Given the description of an element on the screen output the (x, y) to click on. 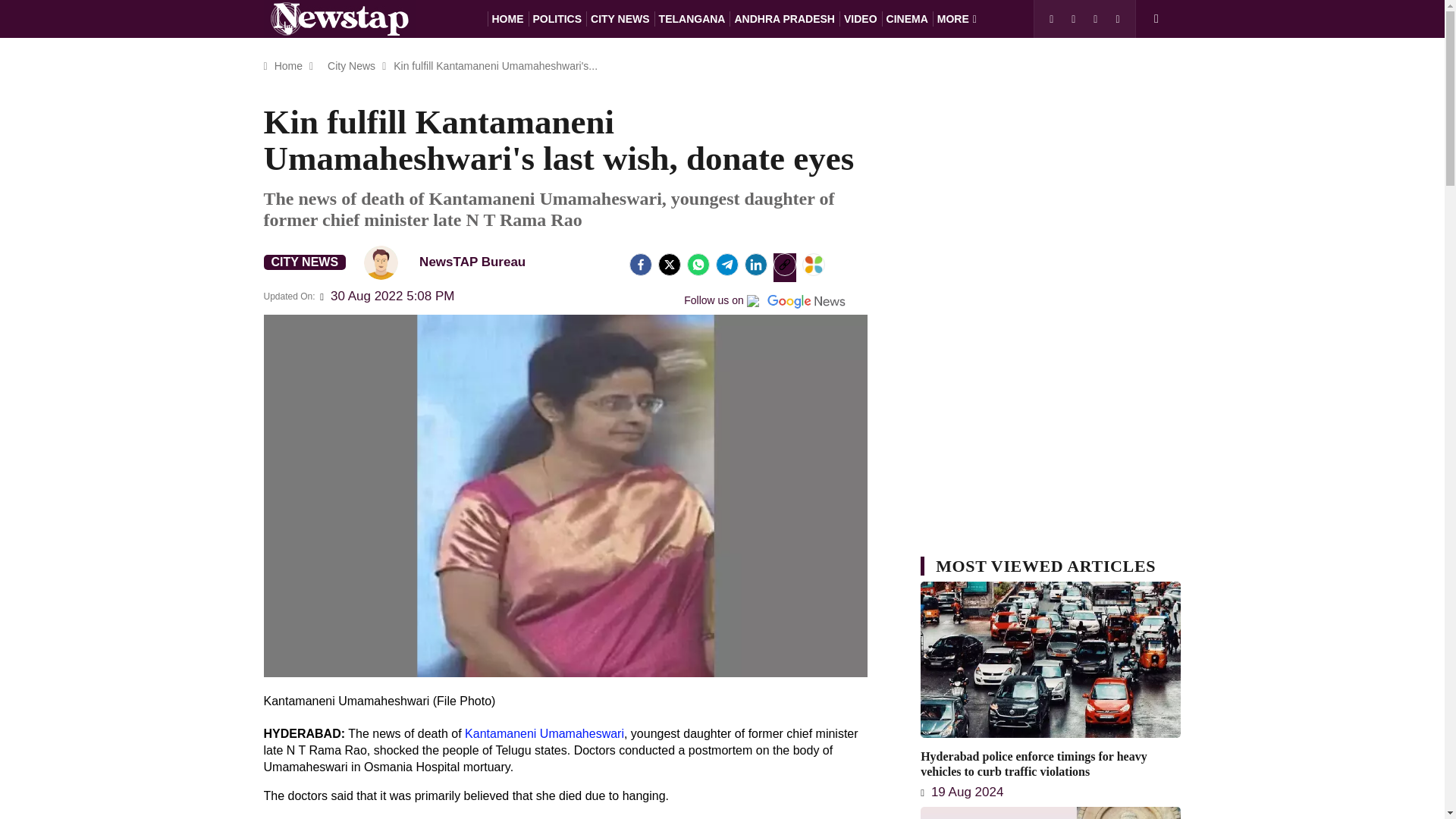
CINEMA (907, 18)
Home (287, 65)
City News (350, 65)
VIDEO (861, 18)
LinkedIn (755, 264)
NewsTAP Bureau (451, 261)
CITY NEWS (619, 18)
CITY NEWS (304, 262)
TELANGANA (691, 18)
